Given the description of an element on the screen output the (x, y) to click on. 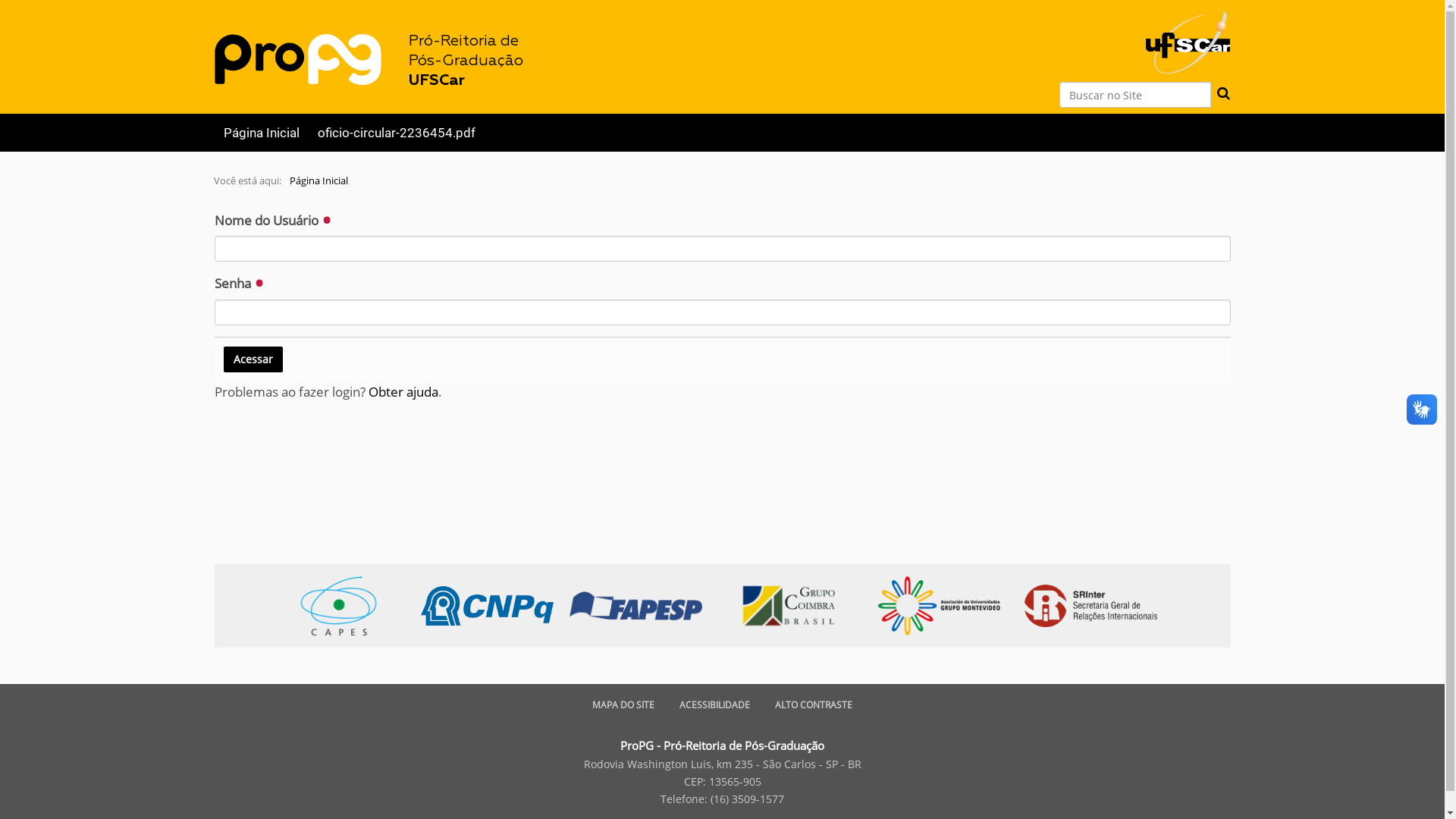
Grupo Coimbra Element type: hover (796, 604)
Grupo Montevideo Element type: hover (940, 605)
Capes Element type: hover (339, 605)
MAPA DO SITE Element type: text (623, 704)
Grupo Montevideo Element type: hover (946, 604)
Capes Element type: hover (345, 604)
Grupo Coimbra Element type: hover (788, 605)
ACESSIBILIDADE Element type: text (714, 704)
oficio-circular-2236454.pdf Element type: text (395, 132)
ALTO CONTRASTE Element type: text (813, 704)
CNPq Element type: hover (488, 605)
SRInter Element type: hover (1091, 605)
Portal UFSCar Element type: hover (1187, 34)
Acessar Element type: text (252, 359)
Buscar no Site Element type: hover (1134, 94)
CNPq Element type: hover (494, 604)
Obter ajuda Element type: text (403, 391)
FAPESP Element type: hover (644, 604)
FAPESP Element type: hover (636, 605)
SRInter Element type: hover (1097, 604)
